Given the description of an element on the screen output the (x, y) to click on. 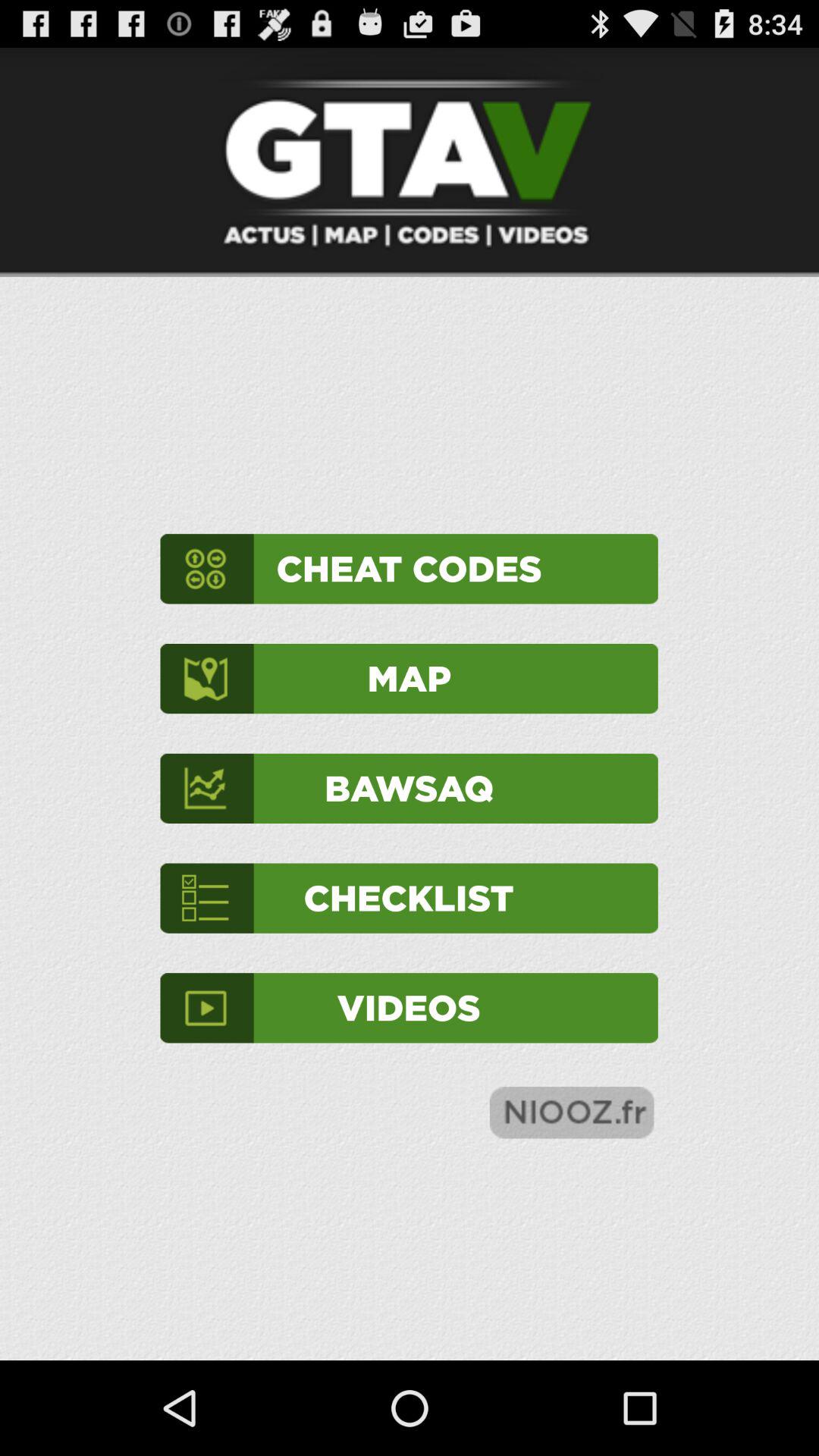
swipe until bawsaq item (409, 788)
